Given the description of an element on the screen output the (x, y) to click on. 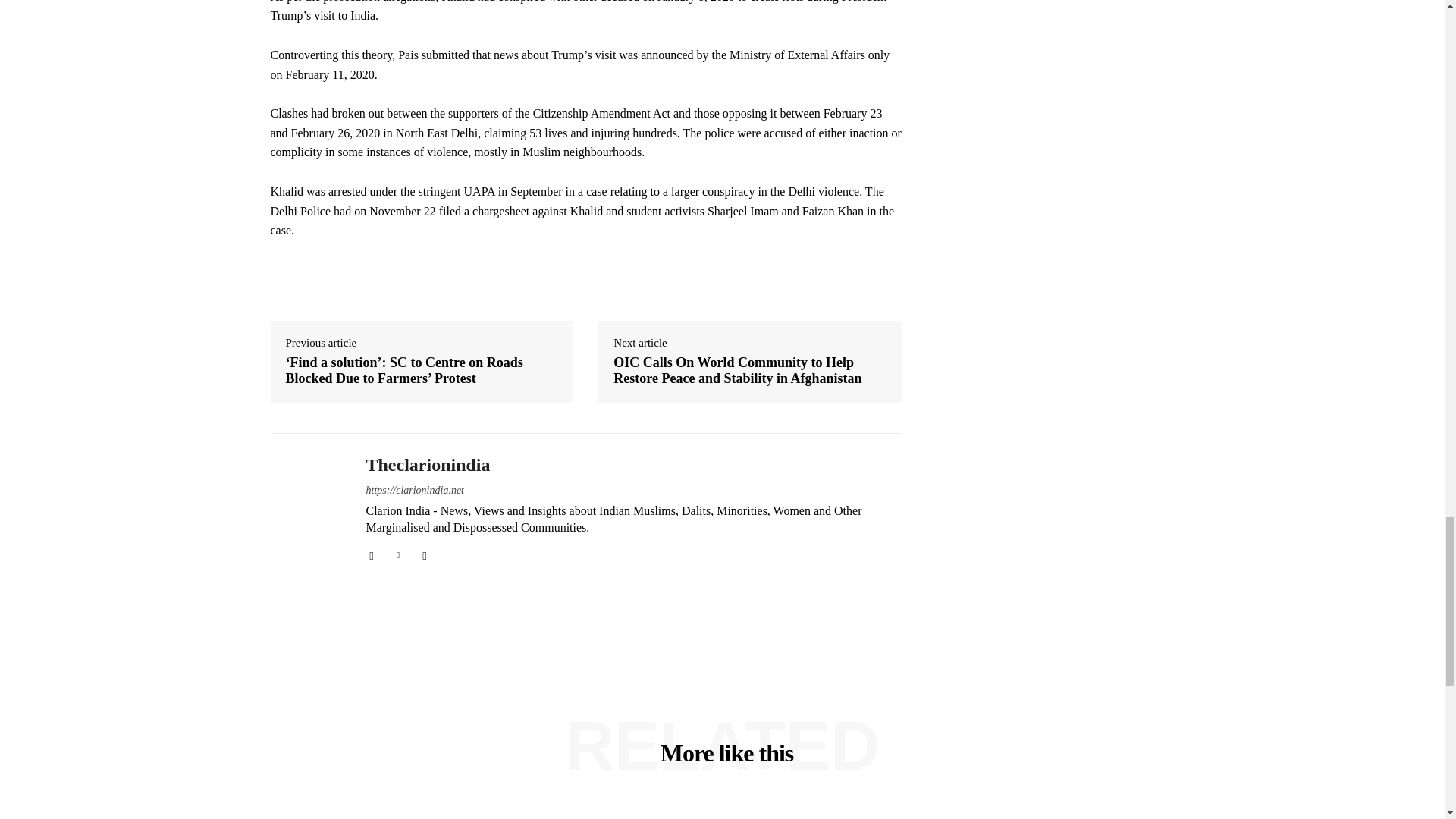
Youtube (424, 552)
Facebook (371, 552)
Twitter (398, 552)
